Given the description of an element on the screen output the (x, y) to click on. 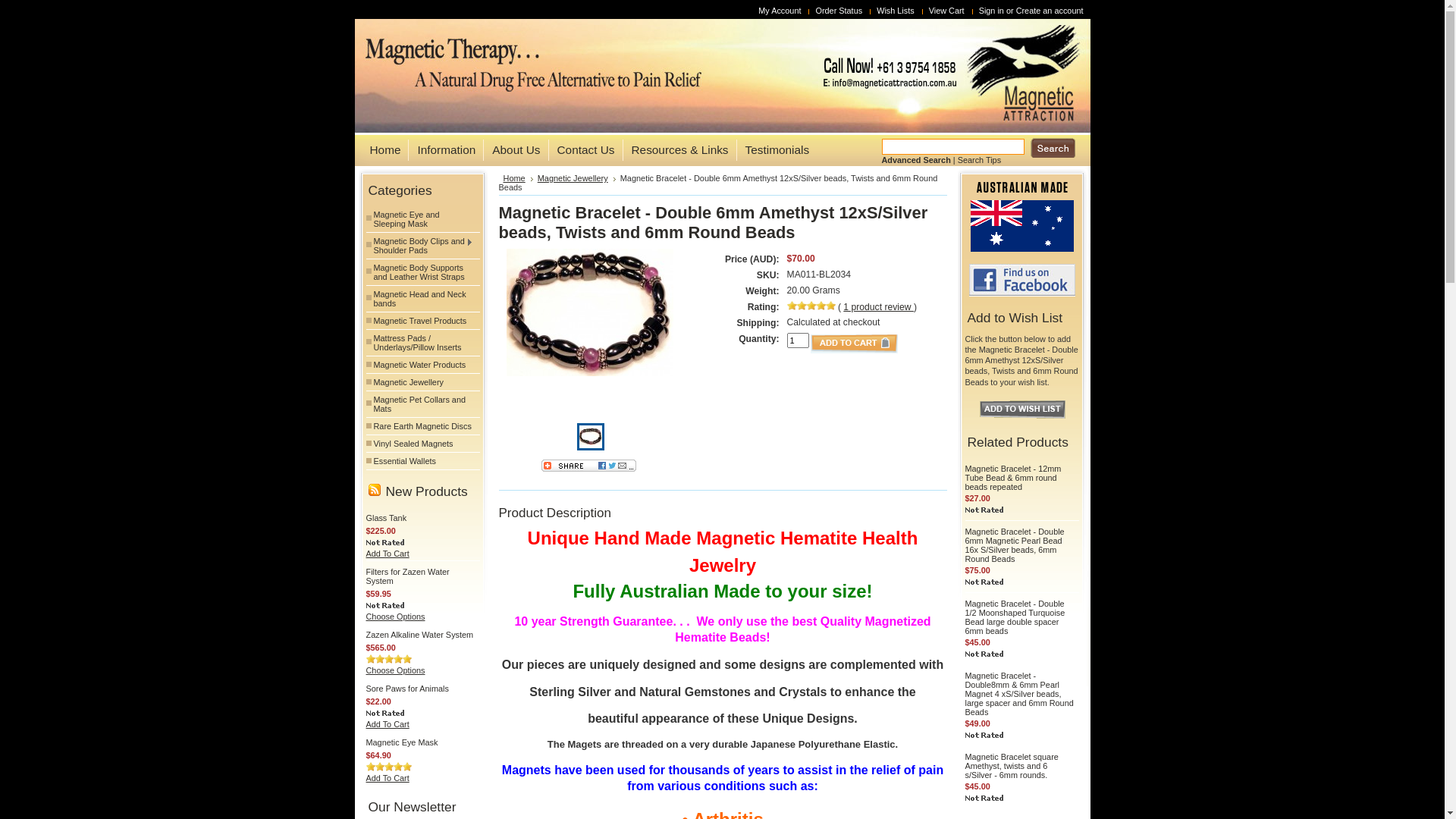
About Us Element type: text (511, 149)
Magnetic Body Supports and Leather Wrist Straps Element type: text (422, 272)
Search Tips Element type: text (979, 159)
View Cart Element type: text (948, 10)
Magnetic Travel Products Element type: text (422, 320)
Add To Cart Element type: text (386, 723)
Add To Cart Element type: text (386, 777)
Filters for Zazen Water System Element type: text (406, 576)
Glass Tank Element type: text (385, 517)
Mattress Pads / Underlays/Pillow Inserts Element type: text (422, 342)
Vinyl Sealed Magnets Element type: text (422, 443)
Wish Lists Element type: text (897, 10)
Advanced Search Element type: text (915, 159)
Magnetic Eye and Sleeping Mask Element type: text (422, 219)
Magnetic Jewellery Element type: text (576, 177)
Contact Us Element type: text (581, 149)
Essential Wallets Element type: text (422, 460)
Testimonials Element type: text (772, 149)
My Account Element type: text (781, 10)
Create an account Element type: text (1049, 10)
Magnetic Pet Collars and Mats Element type: text (422, 404)
New Products RSS Feed Element type: hover (374, 489)
Sign in Element type: text (991, 10)
Magnetic Eye Mask Element type: text (401, 741)
Order Status Element type: text (840, 10)
Magnetic Jewellery Element type: text (422, 381)
0 Element type: text (589, 436)
Choose Options Element type: text (394, 616)
Rare Earth Magnetic Discs Element type: text (422, 425)
Magnetic Water Products Element type: text (422, 364)
Home Element type: text (380, 149)
Home Element type: text (518, 177)
Magnetic Head and Neck bands Element type: text (422, 298)
Information Element type: text (441, 149)
Zazen Alkaline Water System Element type: text (419, 634)
Choose Options Element type: text (394, 669)
1 product review Element type: text (878, 306)
53 Element type: text (4, 4)
Add To Cart Element type: text (386, 553)
Sore Paws for Animals Element type: text (406, 688)
Resources & Links Element type: text (674, 149)
